Given the description of an element on the screen output the (x, y) to click on. 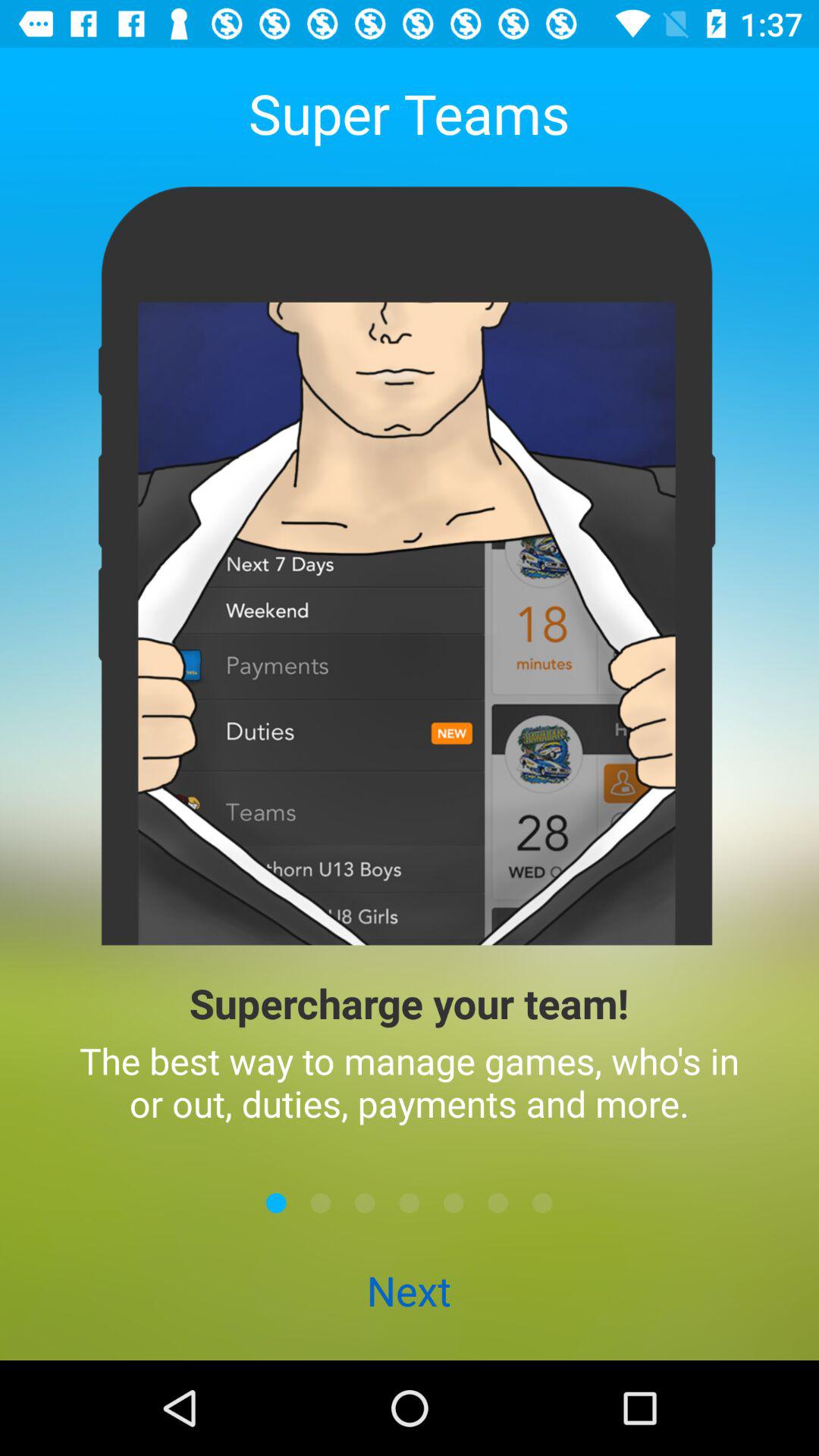
6th button (498, 1203)
